Given the description of an element on the screen output the (x, y) to click on. 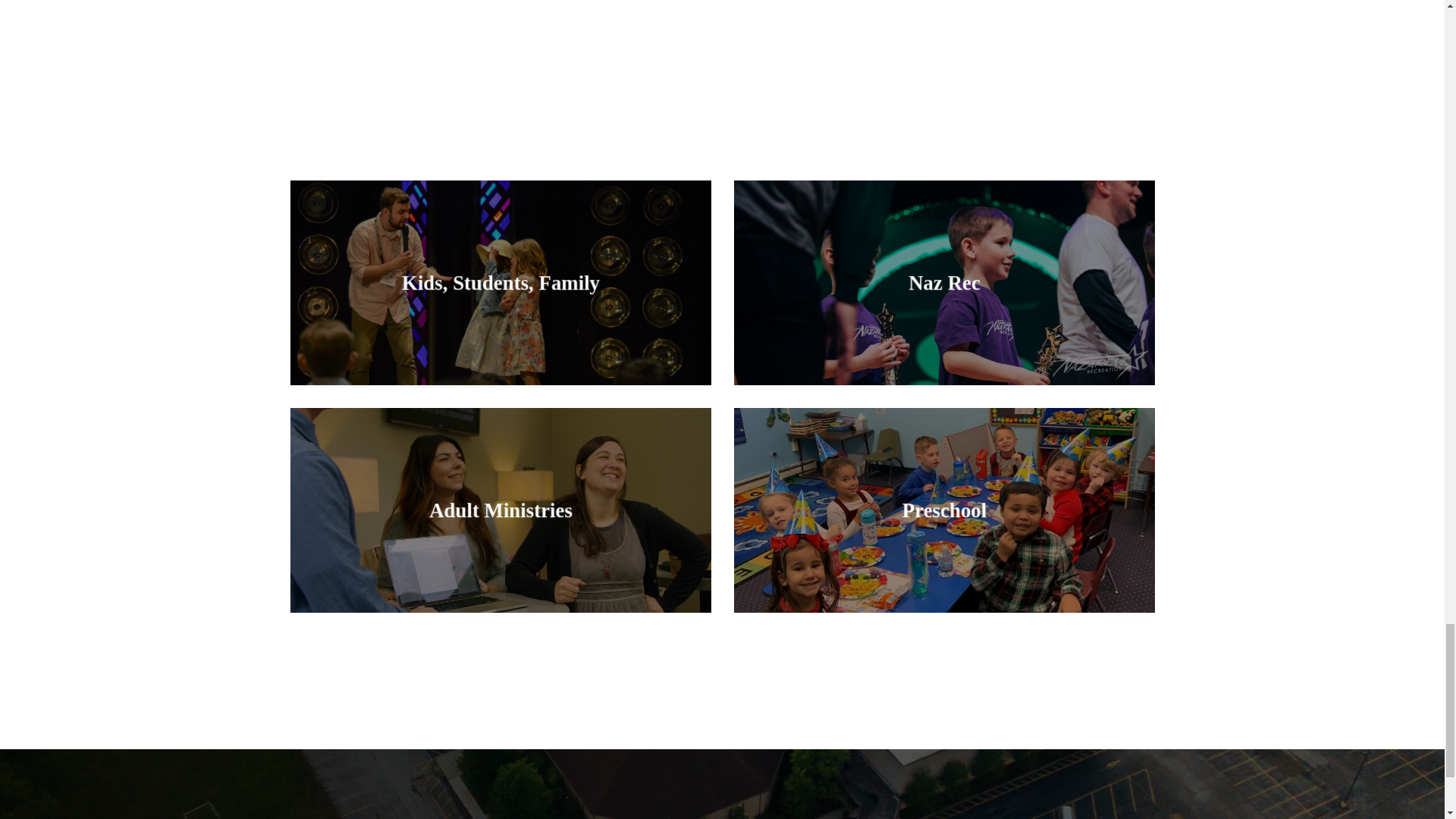
Connect (515, 286)
Connect (515, 514)
Connect (959, 288)
Connect (959, 513)
